Given the description of an element on the screen output the (x, y) to click on. 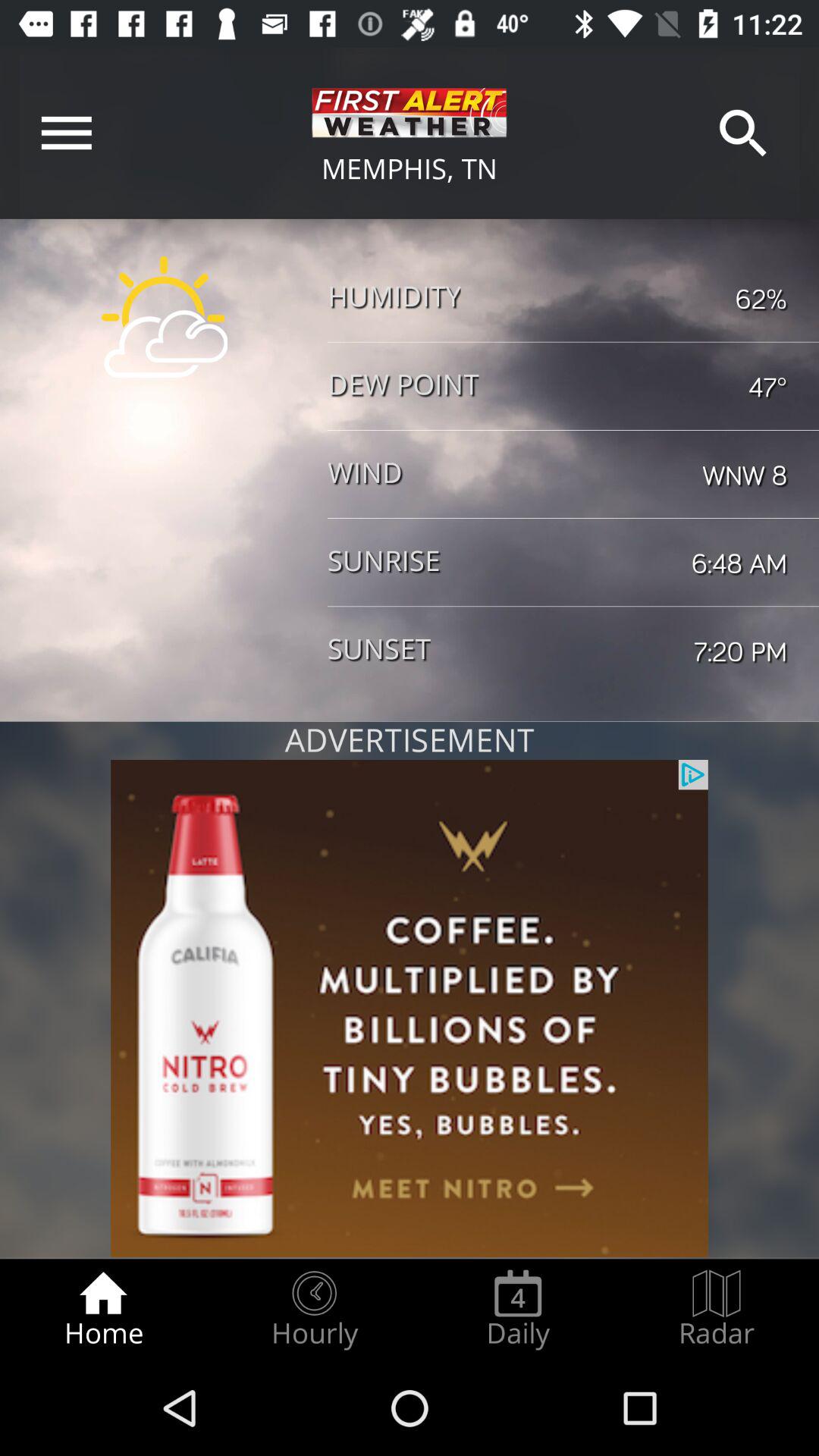
click the radio button to the right of home (314, 1309)
